Given the description of an element on the screen output the (x, y) to click on. 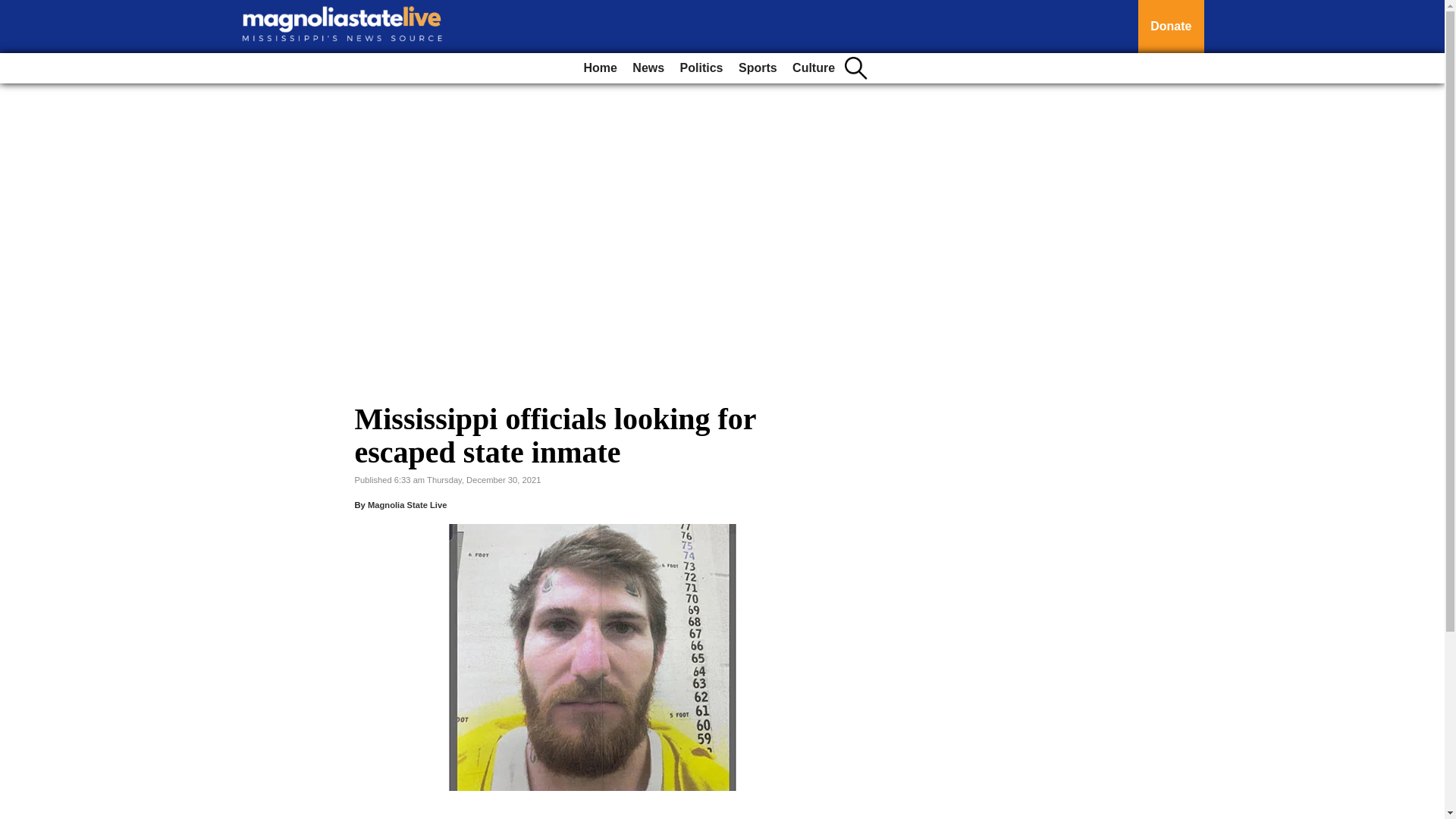
Go (13, 9)
Culture (813, 68)
Home (599, 68)
Magnolia State Live (407, 504)
News (647, 68)
Donate (1171, 26)
Politics (701, 68)
Sports (757, 68)
